Given the description of an element on the screen output the (x, y) to click on. 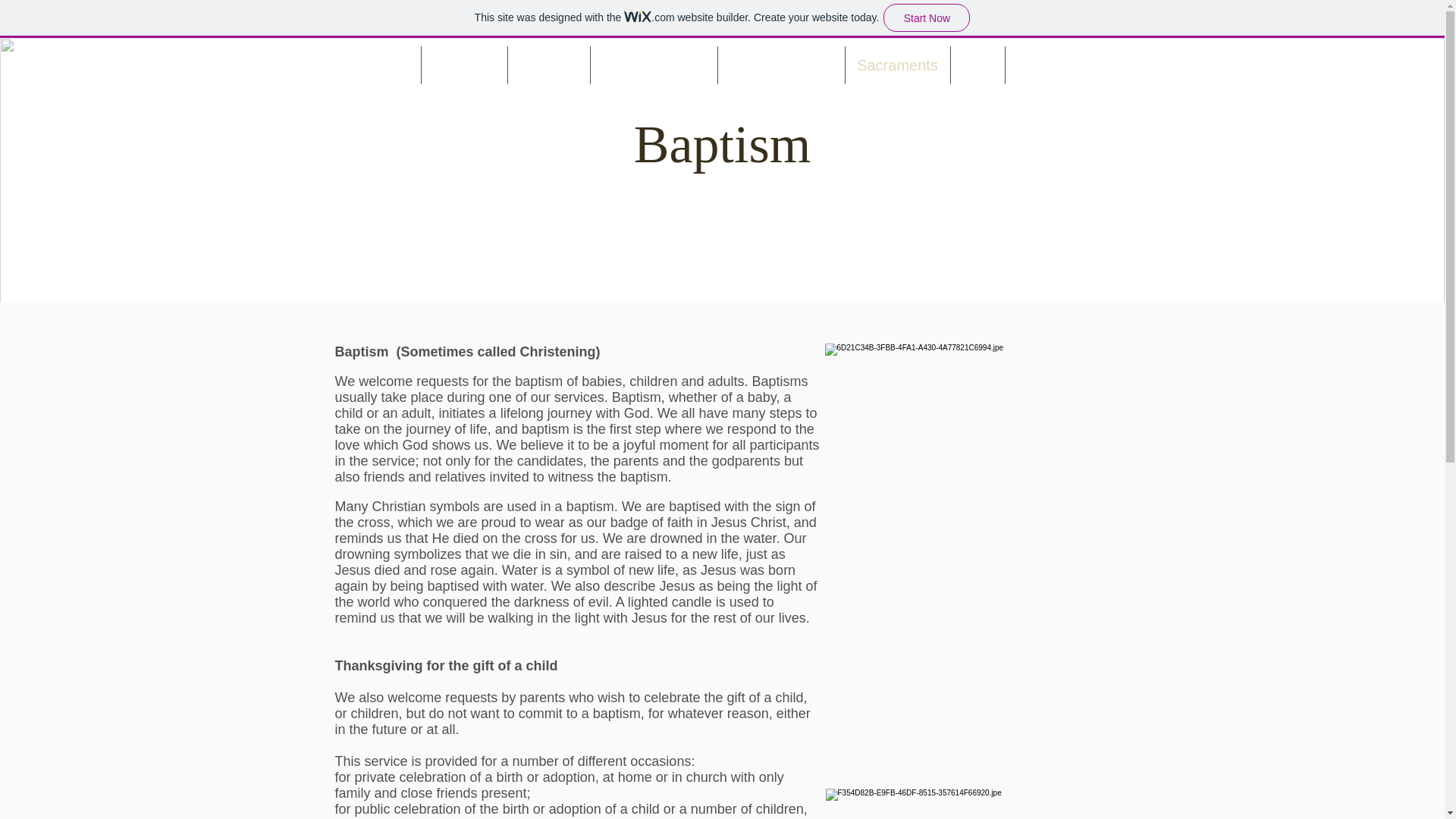
Sacraments (896, 64)
Give (977, 64)
Services (548, 64)
Visit Us (1042, 64)
About Us (464, 64)
Home (388, 64)
